Given the description of an element on the screen output the (x, y) to click on. 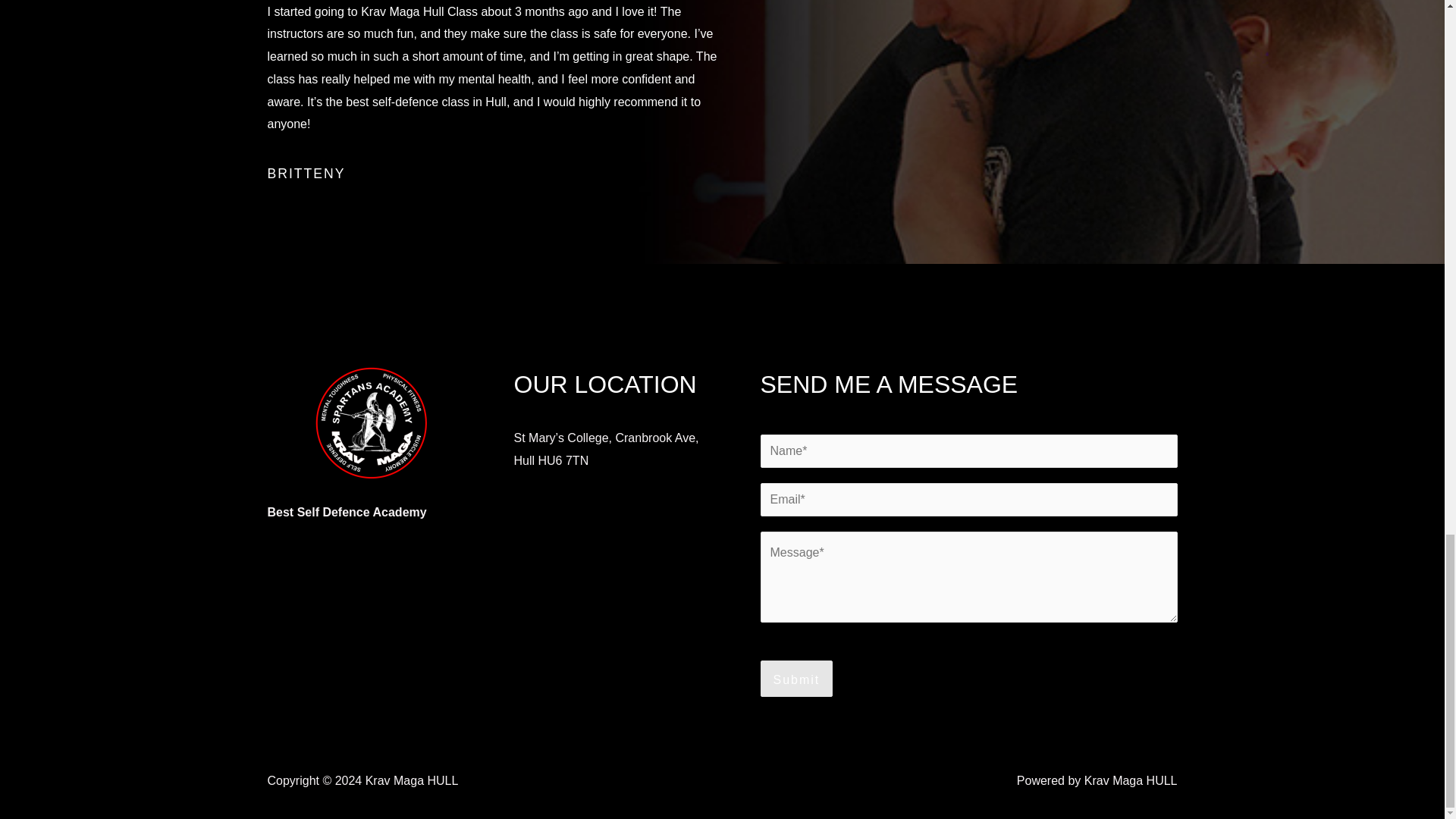
Submit (796, 678)
